Given the description of an element on the screen output the (x, y) to click on. 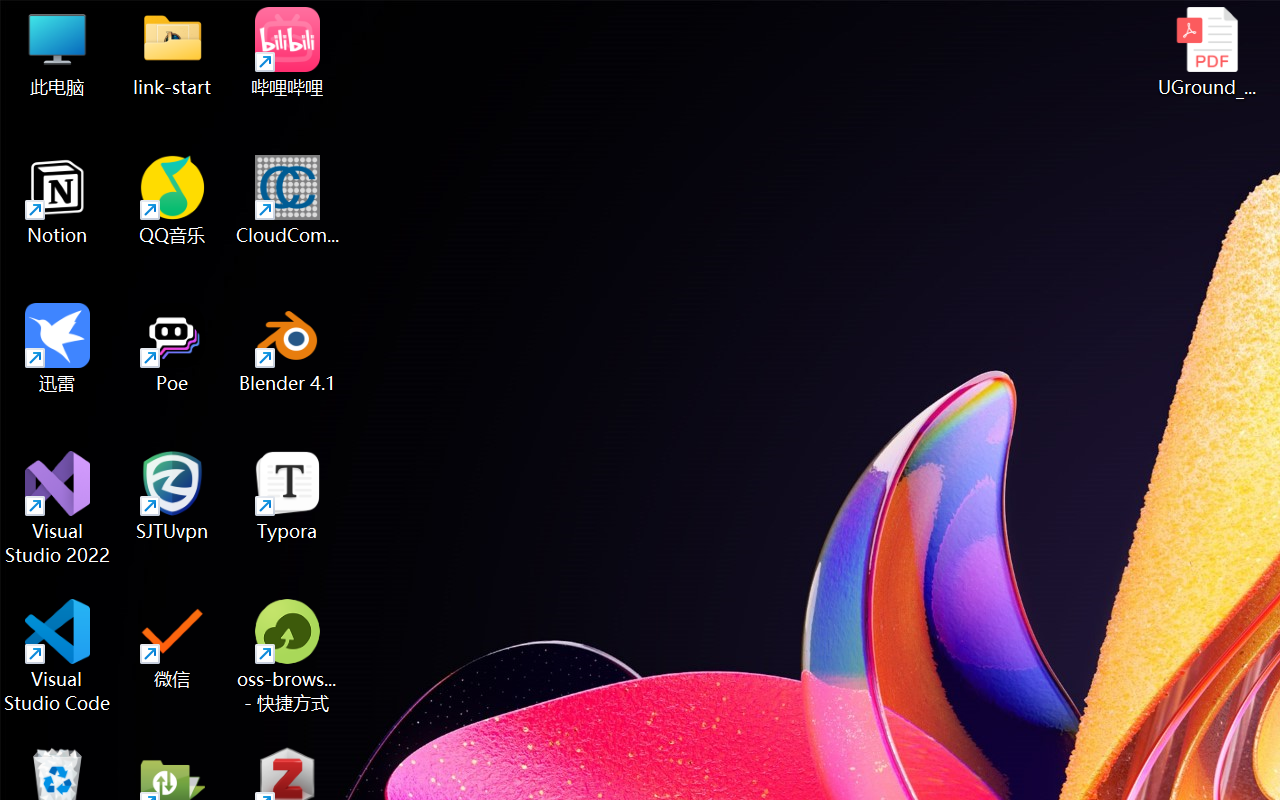
UGround_paper.pdf (1206, 52)
Blender 4.1 (287, 348)
CloudCompare (287, 200)
Visual Studio Code (57, 656)
Visual Studio 2022 (57, 508)
SJTUvpn (172, 496)
Typora (287, 496)
